Given the description of an element on the screen output the (x, y) to click on. 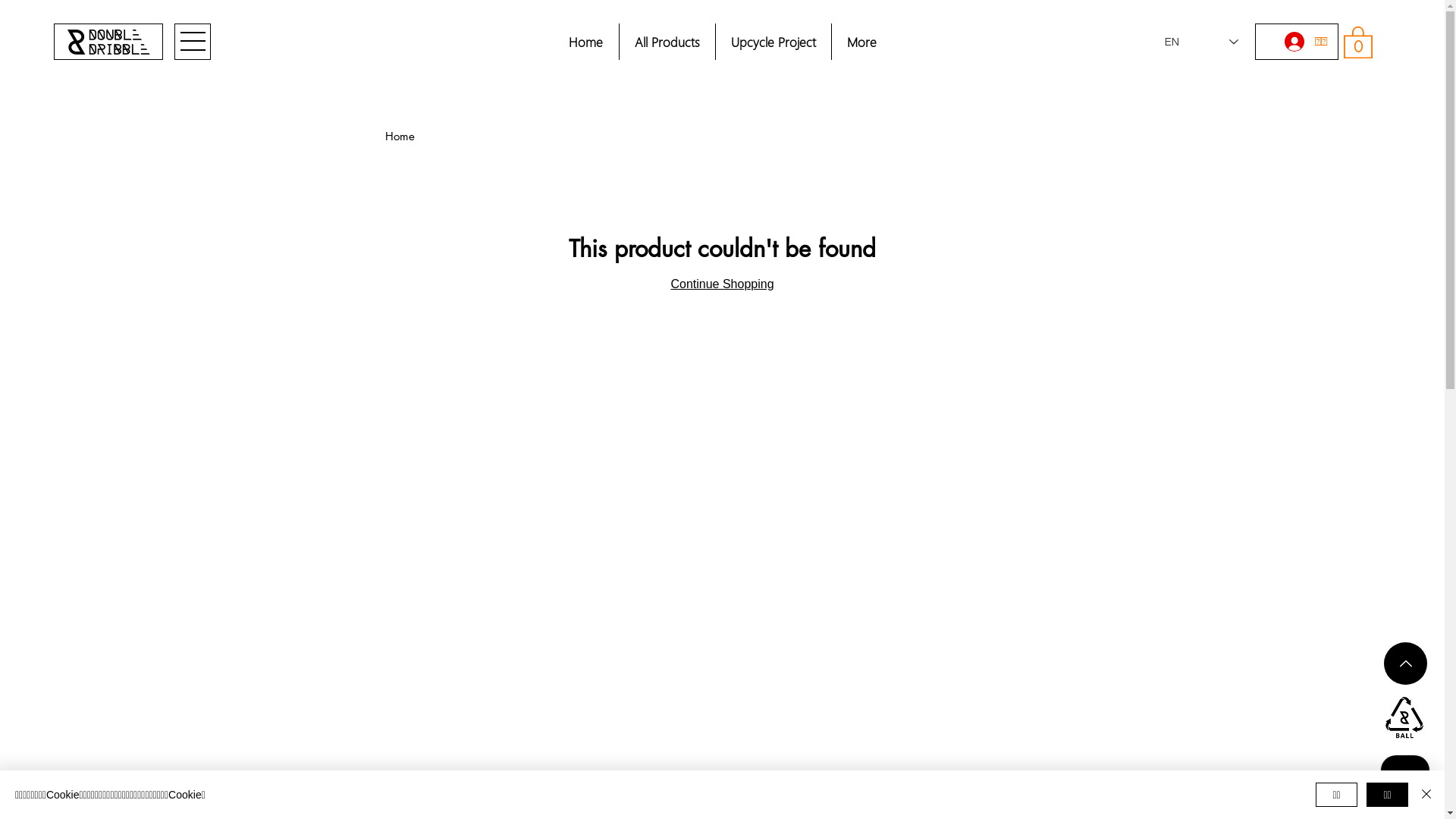
Home Element type: text (399, 135)
0 Element type: text (1357, 41)
All Products Element type: text (666, 41)
Home Element type: text (585, 41)
Upcycle Project Element type: text (772, 41)
Continue Shopping Element type: text (721, 283)
